Given the description of an element on the screen output the (x, y) to click on. 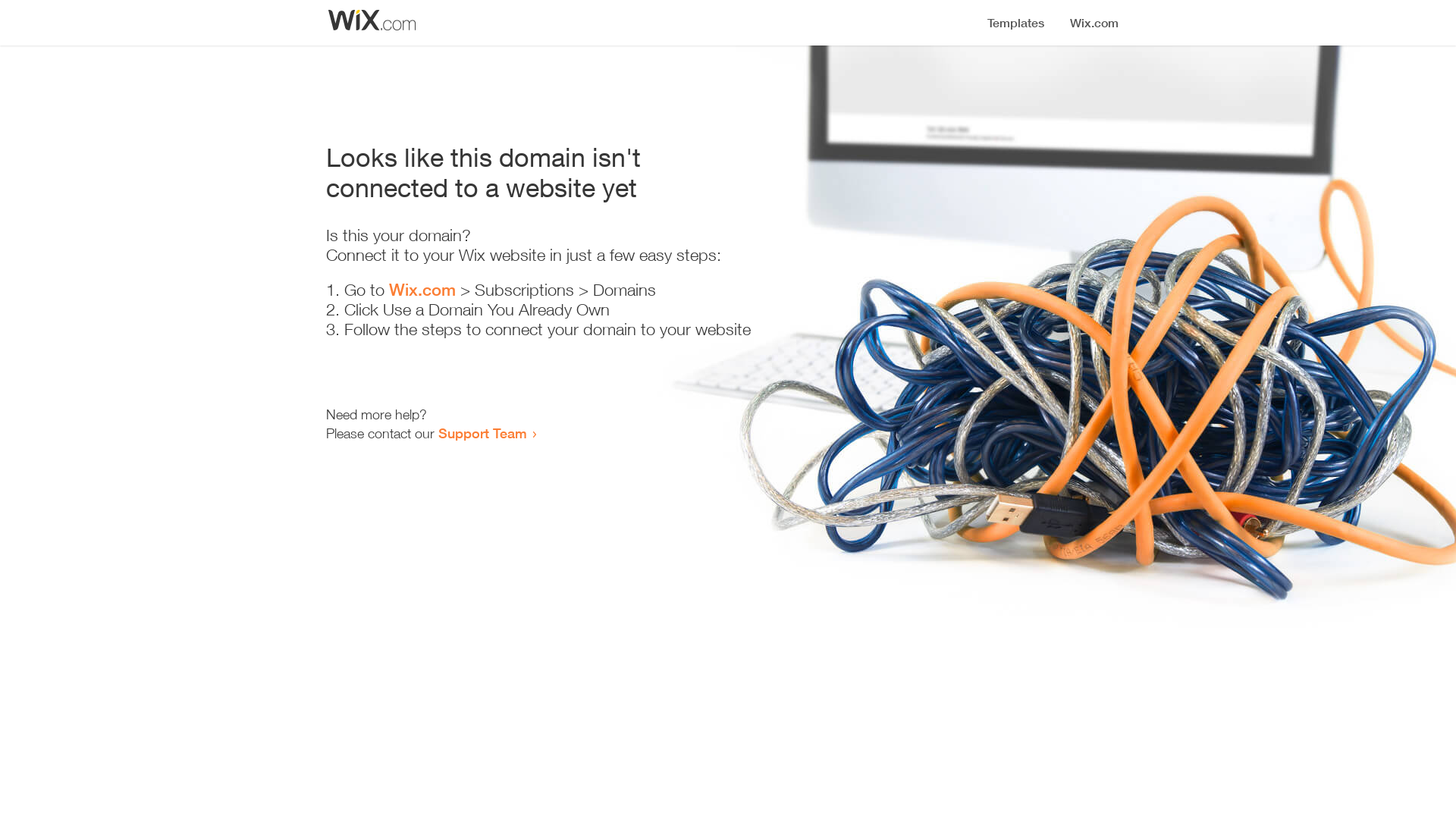
Wix.com Element type: text (422, 289)
Support Team Element type: text (482, 432)
